Given the description of an element on the screen output the (x, y) to click on. 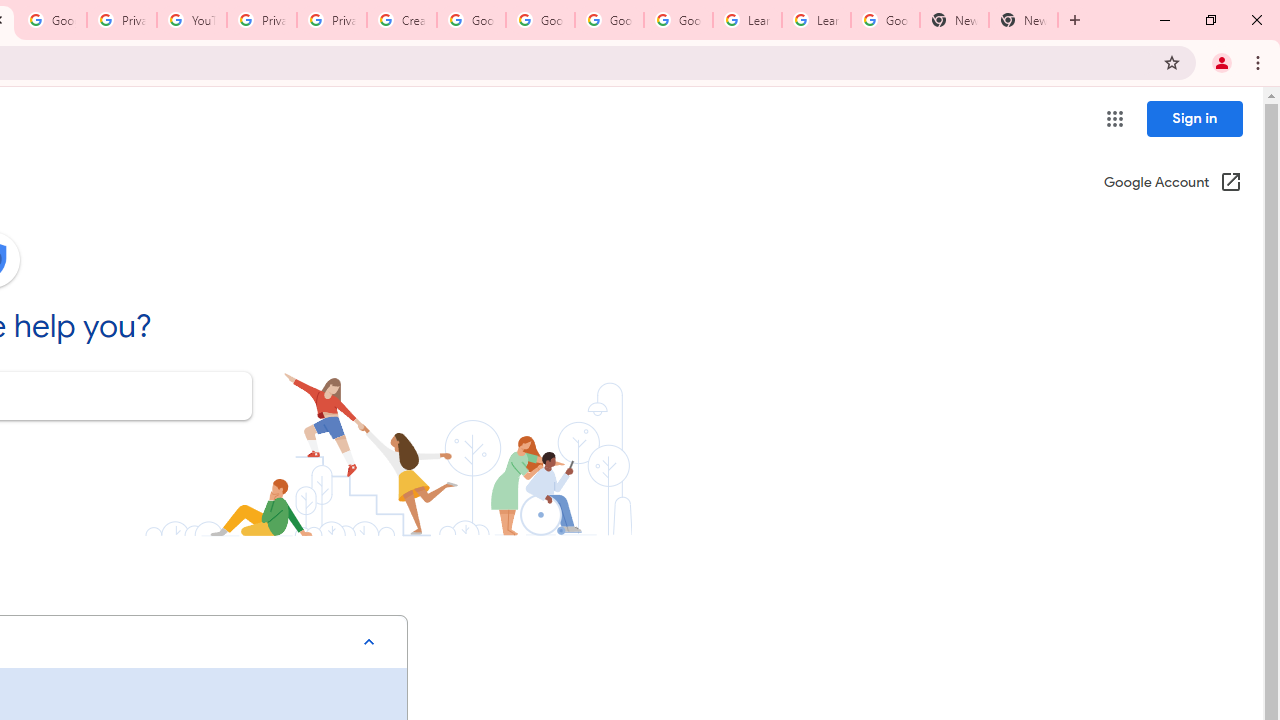
Google Account Help (539, 20)
Google Account (Open in a new window) (1172, 183)
Google Account Help (677, 20)
Create your Google Account (401, 20)
New Tab (1023, 20)
